Given the description of an element on the screen output the (x, y) to click on. 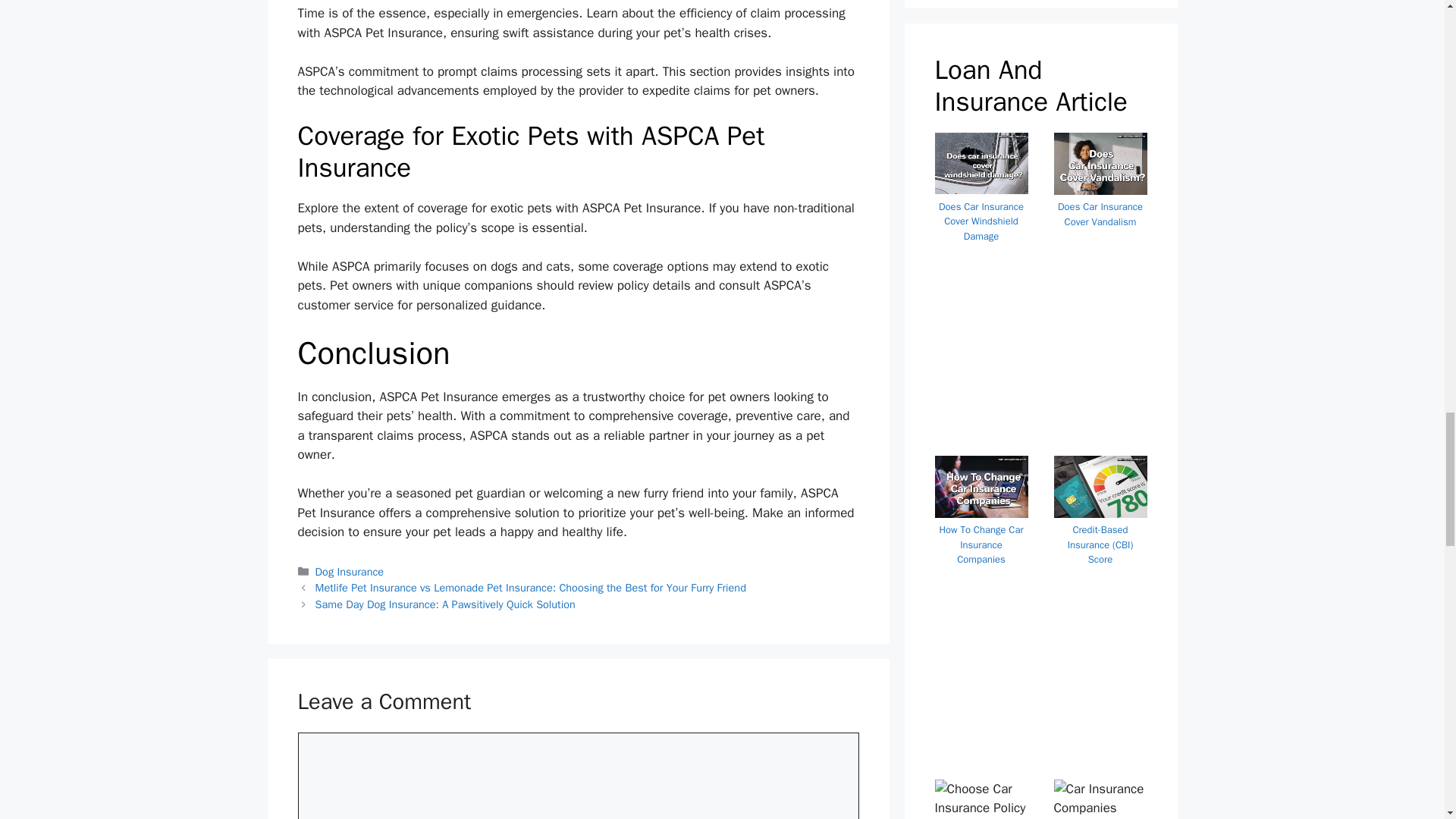
Same Day Dog Insurance: A Pawsitively Quick Solution (445, 603)
Dog Insurance (349, 571)
